Given the description of an element on the screen output the (x, y) to click on. 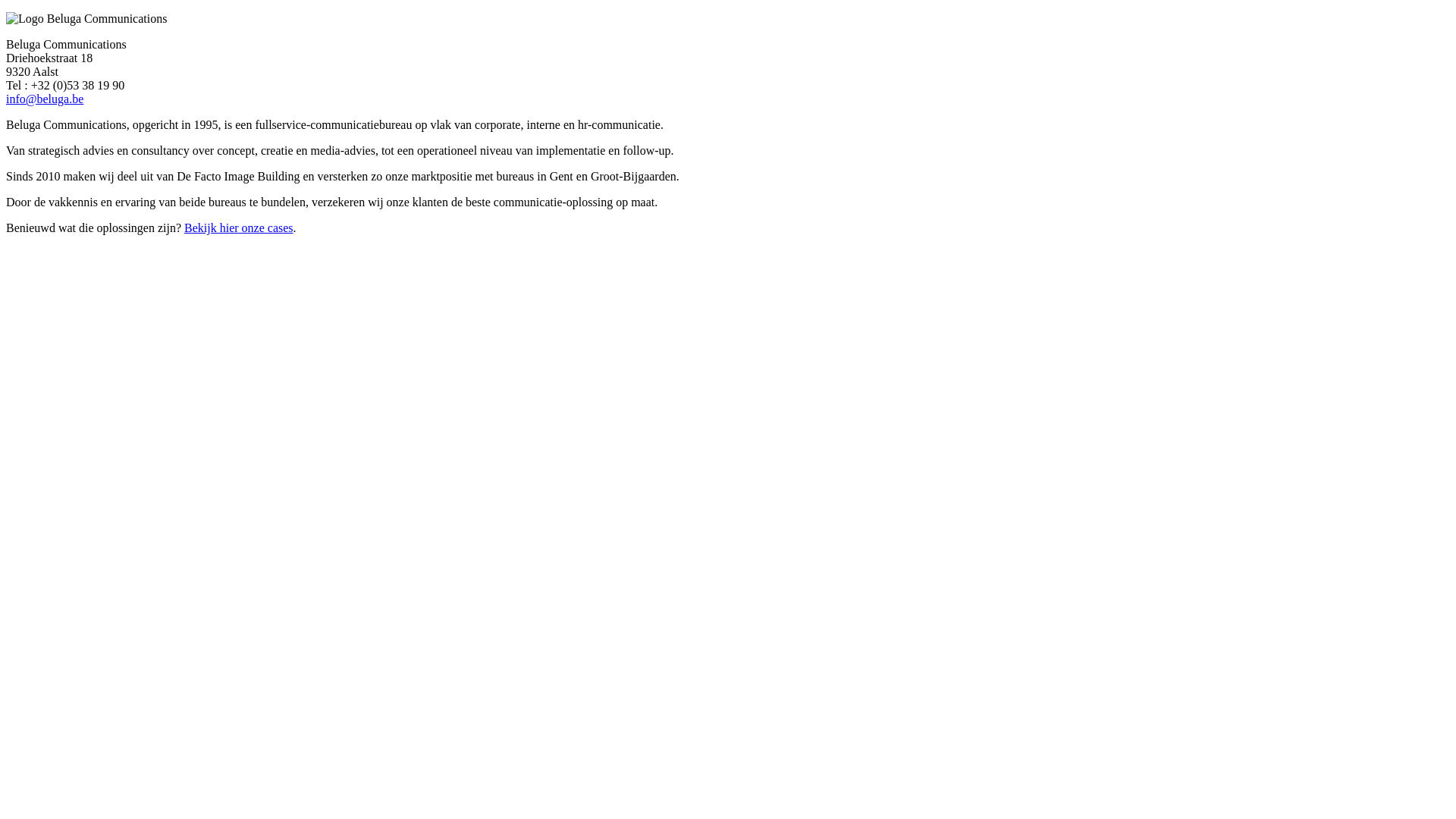
Bekijk hier onze cases Element type: text (238, 227)
info@beluga.be Element type: text (44, 98)
